Given the description of an element on the screen output the (x, y) to click on. 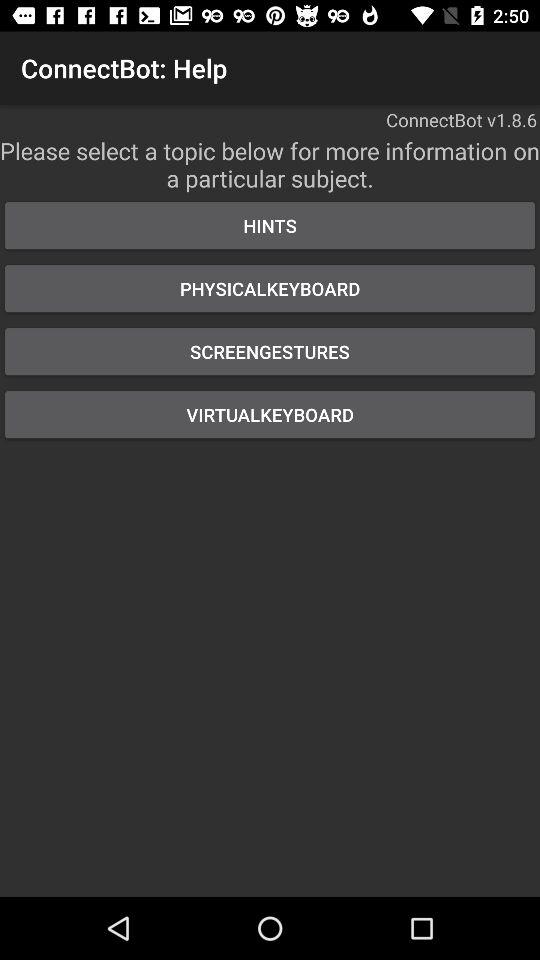
choose the button below screengestures icon (270, 414)
